Given the description of an element on the screen output the (x, y) to click on. 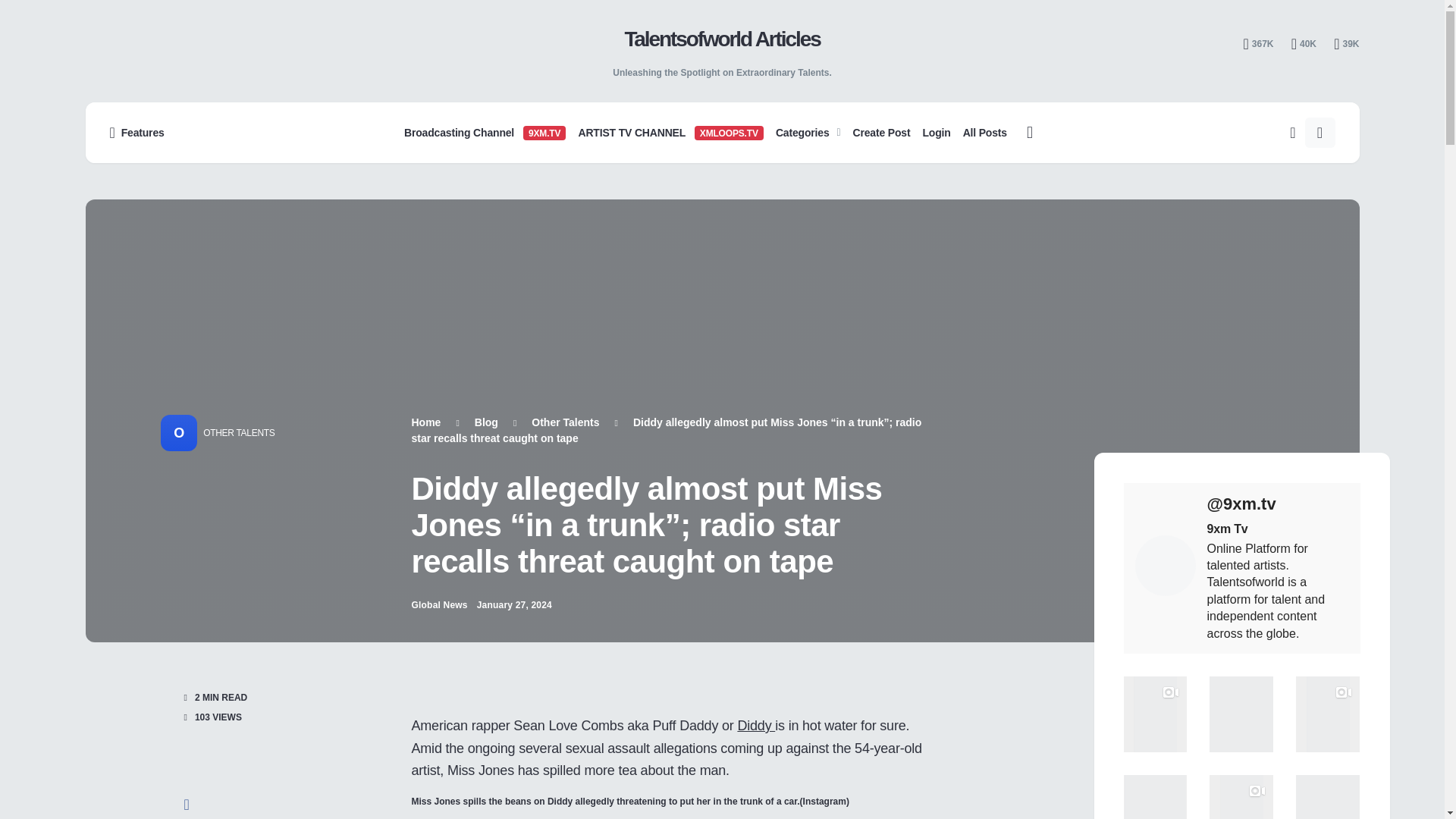
367K (1257, 43)
40K (1303, 43)
9xm.tv (1278, 504)
39K (1345, 43)
View all posts by Global News (438, 604)
Talentsofworld Articles (721, 38)
